Given the description of an element on the screen output the (x, y) to click on. 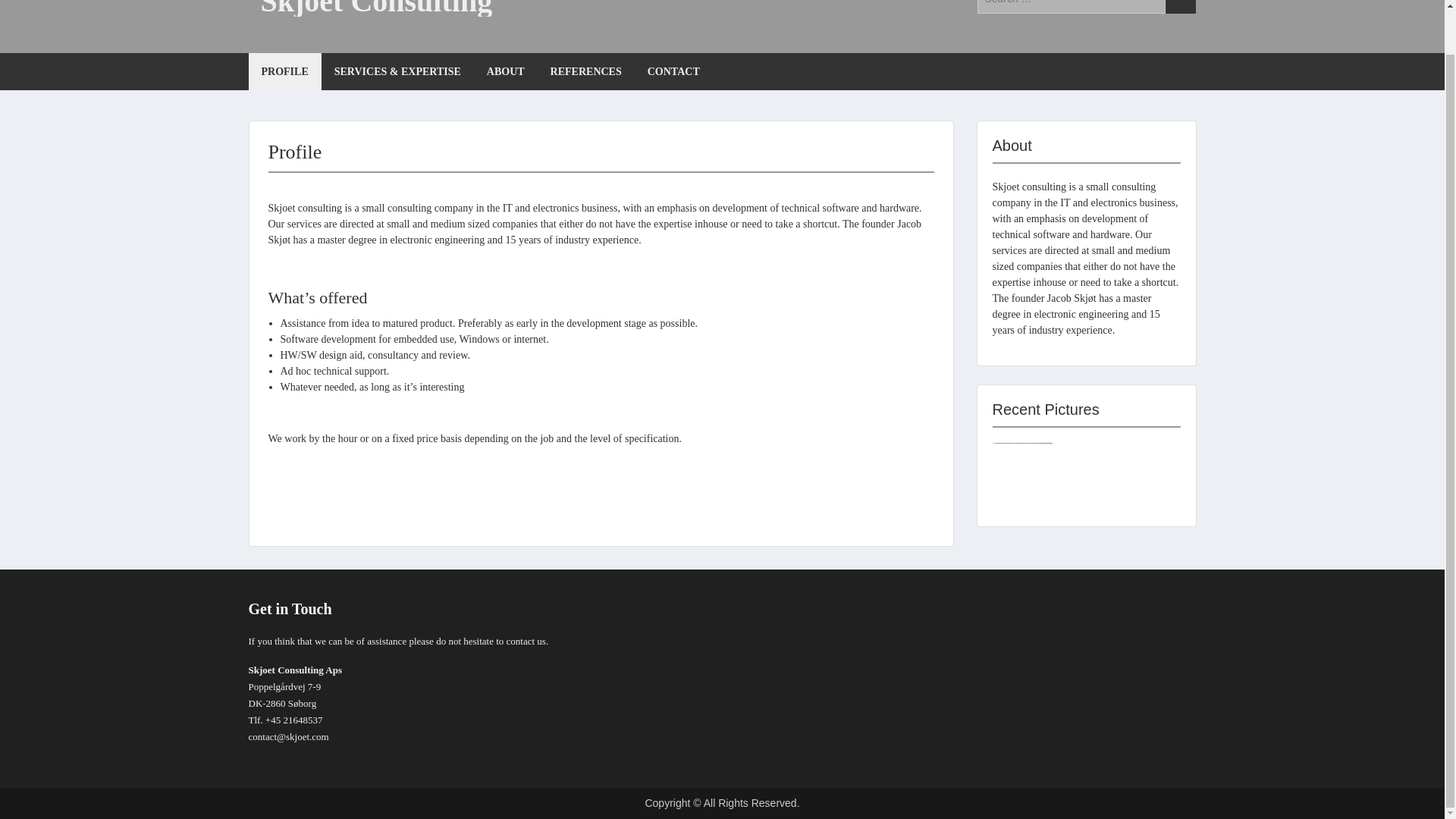
Search for: (1071, 6)
Search (1180, 6)
REFERENCES (585, 71)
PROFILE (284, 71)
CONTACT (673, 71)
Search (1180, 6)
ABOUT (505, 71)
